Given the description of an element on the screen output the (x, y) to click on. 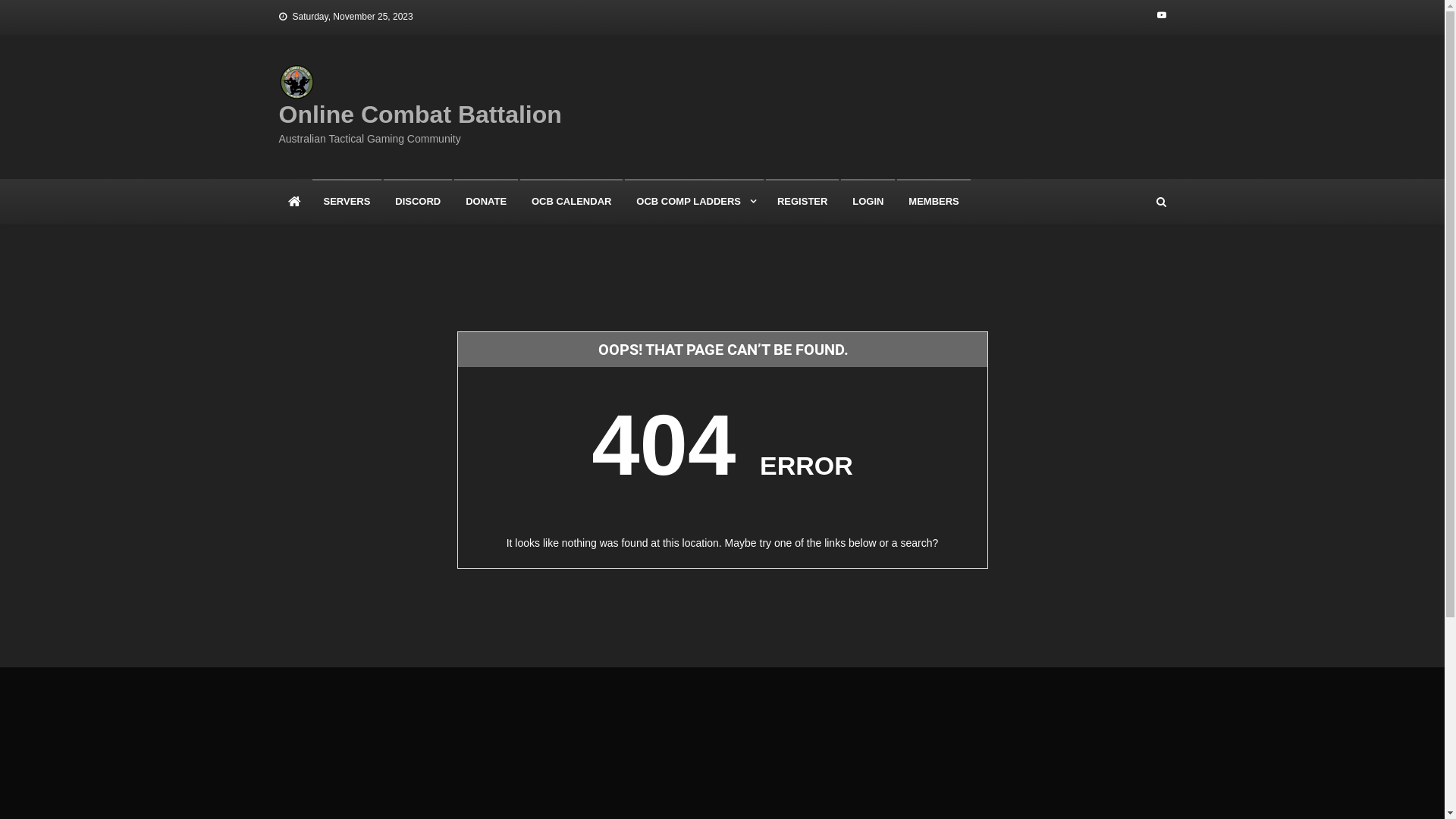
Online Combat Battalion Element type: text (420, 114)
LOGIN Element type: text (867, 201)
DISCORD Element type: text (417, 201)
MEMBERS Element type: text (933, 201)
SERVERS Element type: text (347, 201)
Search Element type: text (1133, 264)
DONATE Element type: text (485, 201)
REGISTER Element type: text (801, 201)
OCB CALENDAR Element type: text (571, 201)
OCB COMP LADDERS Element type: text (693, 201)
